Given the description of an element on the screen output the (x, y) to click on. 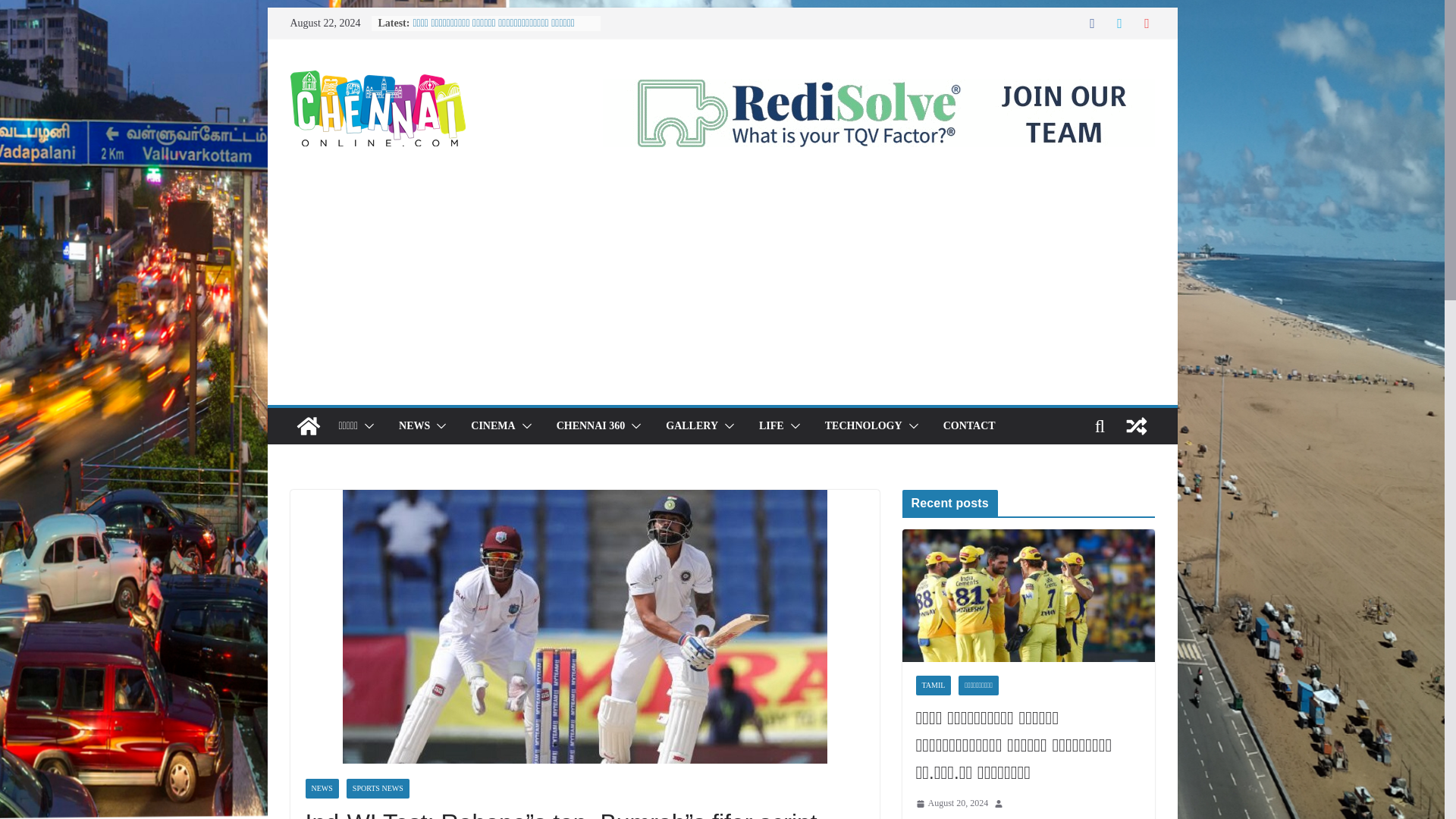
Chennaionline (307, 425)
GALLERY (691, 425)
CINEMA (492, 425)
CHENNAI 360 (591, 425)
NEWS (413, 425)
View a random post (1136, 425)
